Given the description of an element on the screen output the (x, y) to click on. 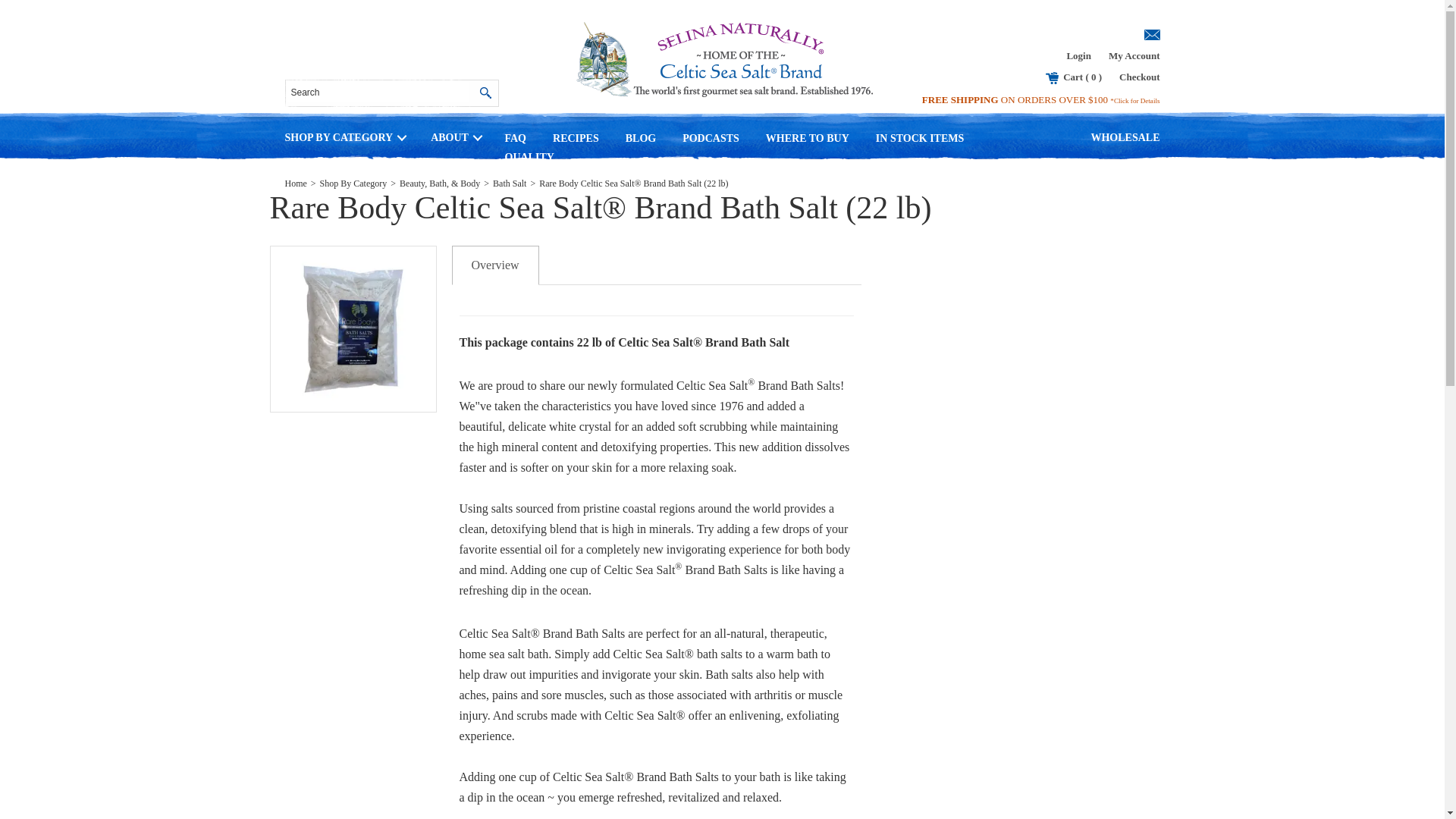
Checkout (1138, 76)
Login (1077, 55)
My Account (1134, 55)
